Given the description of an element on the screen output the (x, y) to click on. 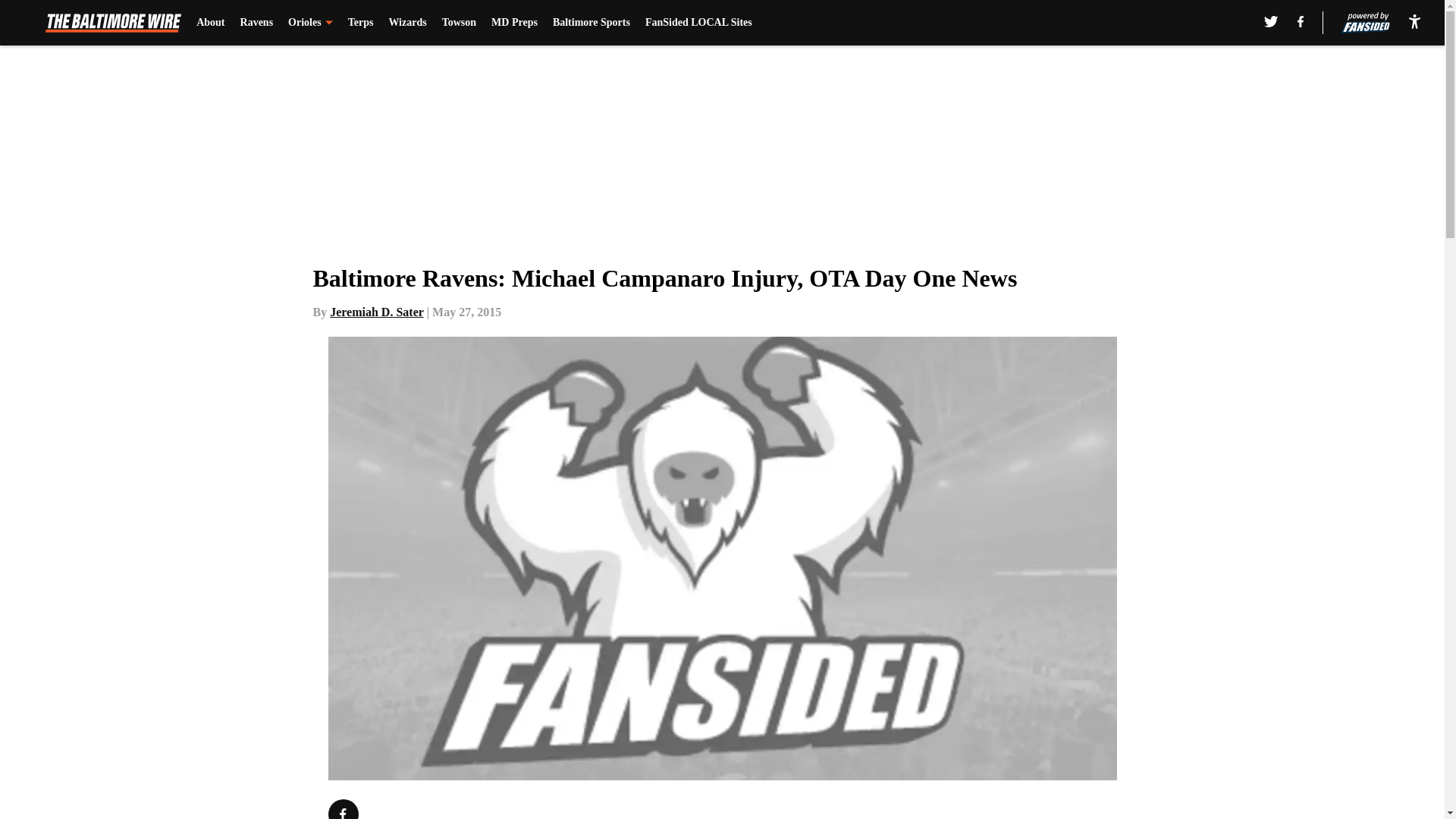
About (210, 22)
Wizards (407, 22)
Ravens (256, 22)
Terps (360, 22)
Baltimore Sports (591, 22)
Jeremiah D. Sater (376, 311)
FanSided LOCAL Sites (698, 22)
MD Preps (514, 22)
Towson (459, 22)
